Given the description of an element on the screen output the (x, y) to click on. 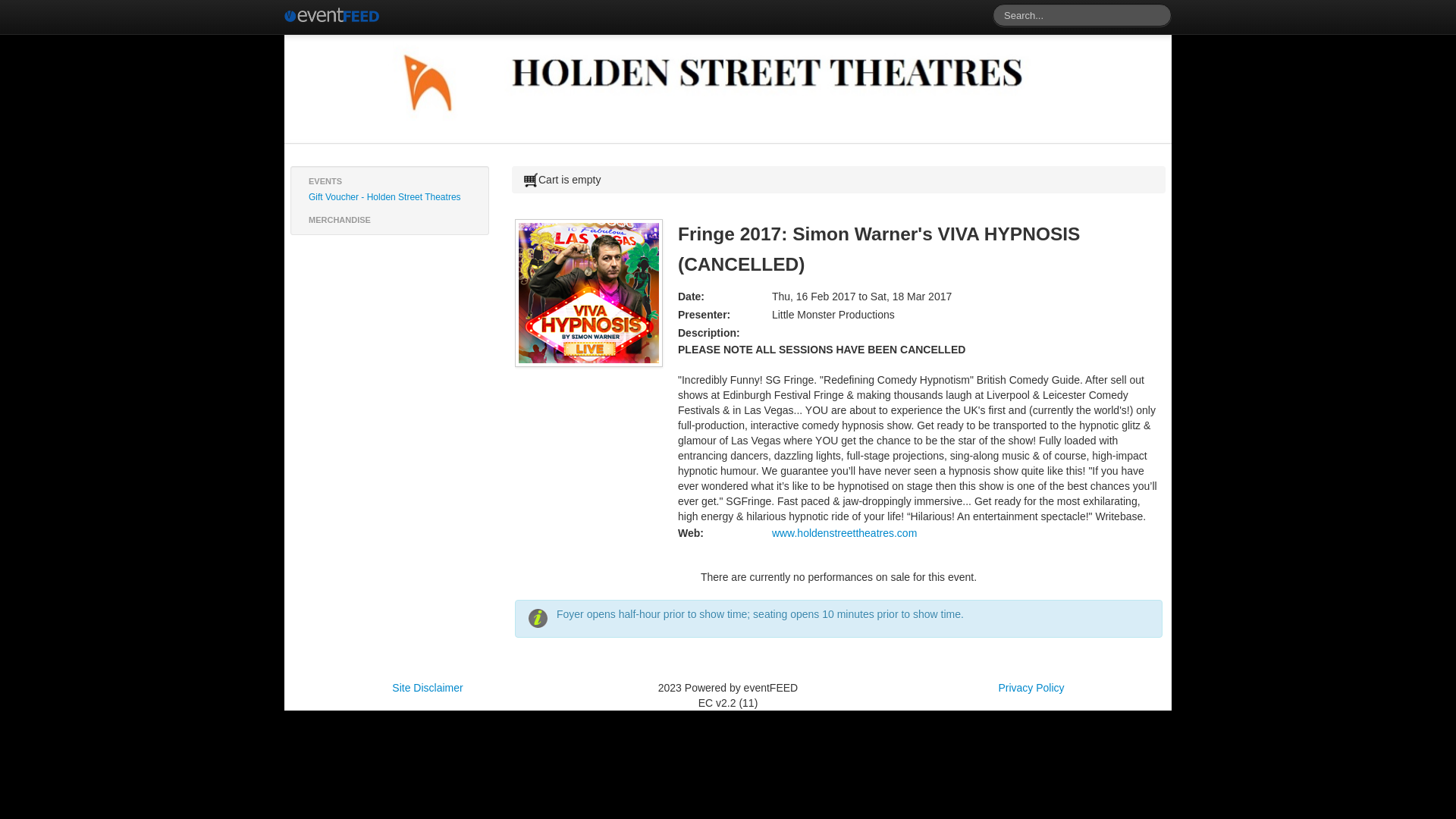
Site Disclaimer Element type: text (427, 687)
Gift Voucher - Holden Street Theatres Element type: text (389, 196)
www.holdenstreettheatres.com Element type: text (843, 533)
Privacy Policy Element type: text (1030, 687)
